Given the description of an element on the screen output the (x, y) to click on. 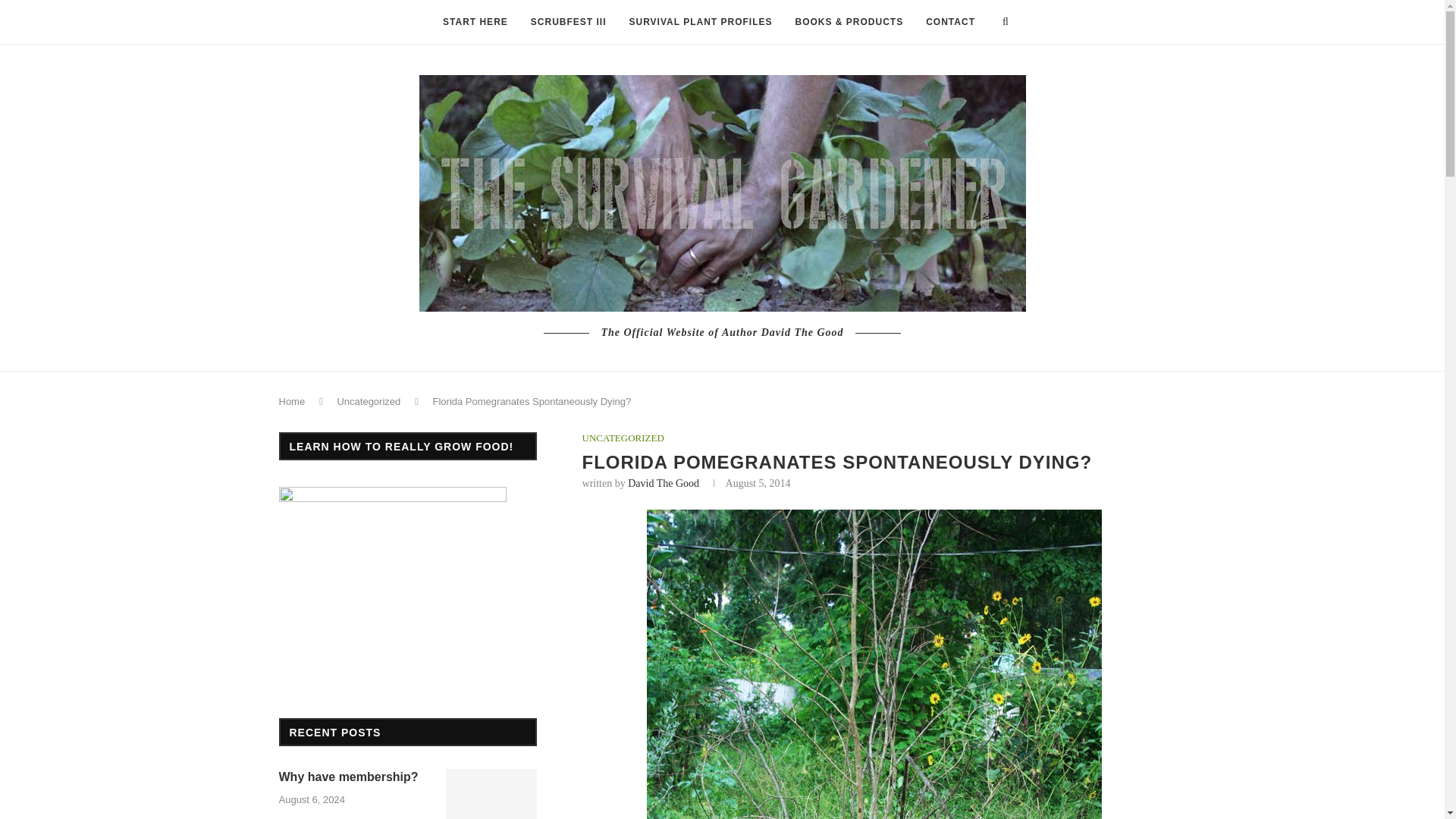
SCRUBFEST III (568, 22)
Home (292, 401)
David The Good (662, 482)
Uncategorized (368, 401)
UNCATEGORIZED (622, 438)
CONTACT (950, 22)
START HERE (474, 22)
SURVIVAL PLANT PROFILES (700, 22)
